Given the description of an element on the screen output the (x, y) to click on. 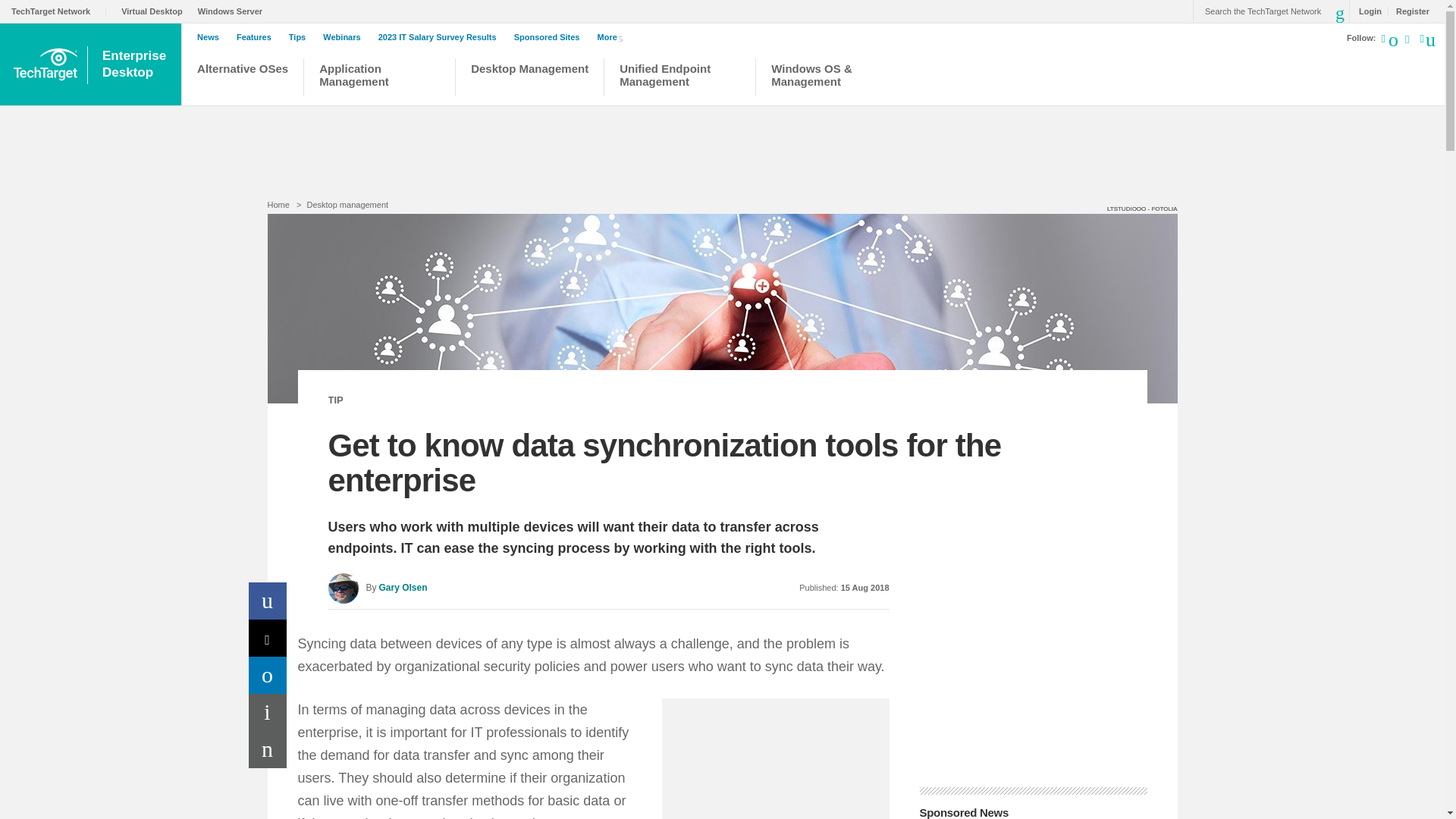
Alternative OSes (242, 79)
Register (1408, 10)
Application Management (378, 79)
Print This Page (267, 712)
Email a Friend (267, 749)
Unified Endpoint Management (679, 79)
Share on Facebook (267, 600)
Virtual Desktop (155, 10)
Tips (300, 36)
Share on LinkedIn (267, 674)
Desktop management (346, 204)
2023 IT Salary Survey Results (440, 36)
Windows Server (233, 10)
News (211, 36)
Sponsored Sites (550, 36)
